Given the description of an element on the screen output the (x, y) to click on. 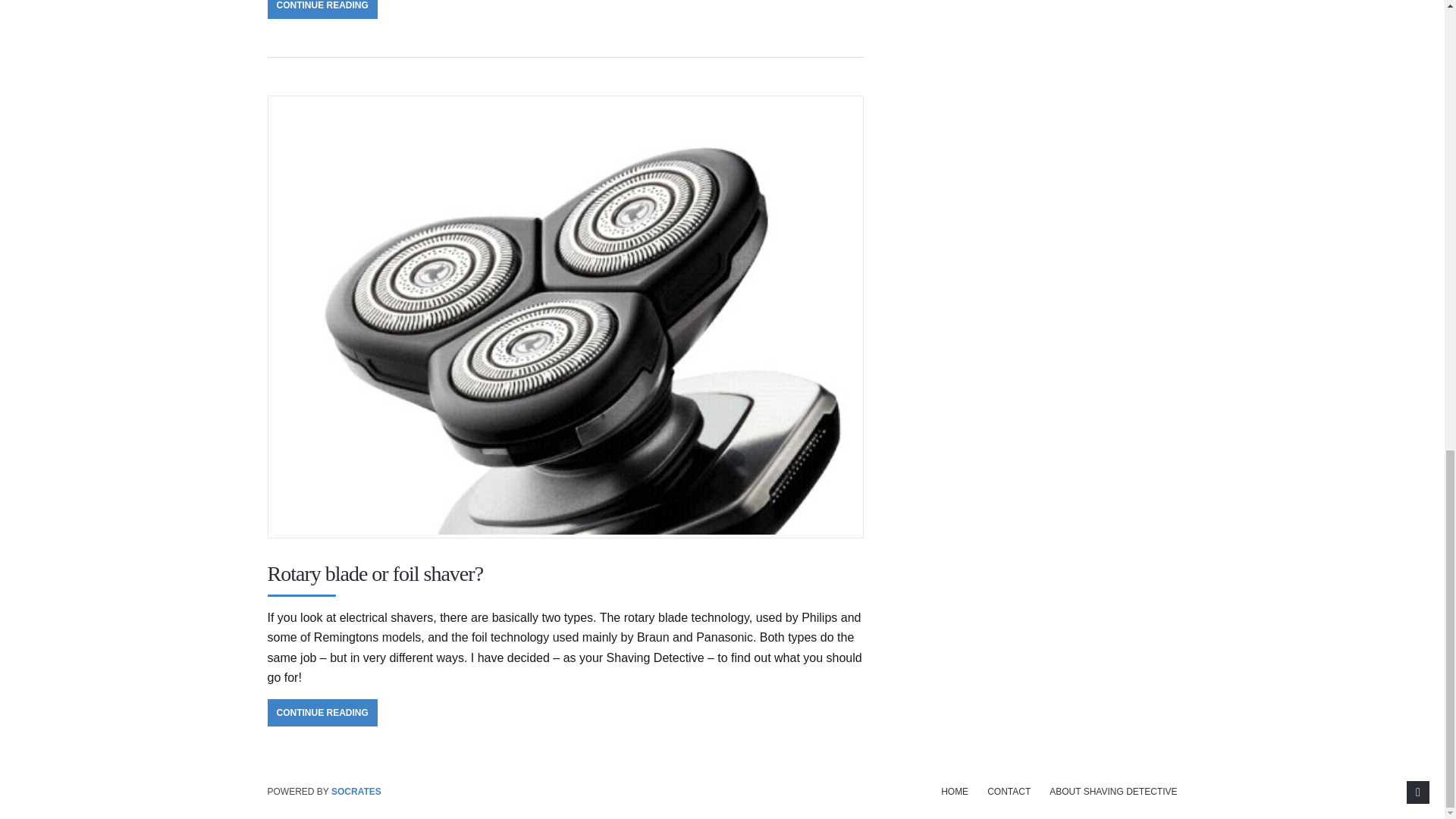
CONTINUE READING (321, 712)
Rotary blade or foil shaver? (374, 573)
ABOUT SHAVING DETECTIVE (1112, 791)
CONTINUE READING (321, 9)
SOCRATES (356, 791)
HOME (954, 791)
CONTACT (1008, 791)
